Given the description of an element on the screen output the (x, y) to click on. 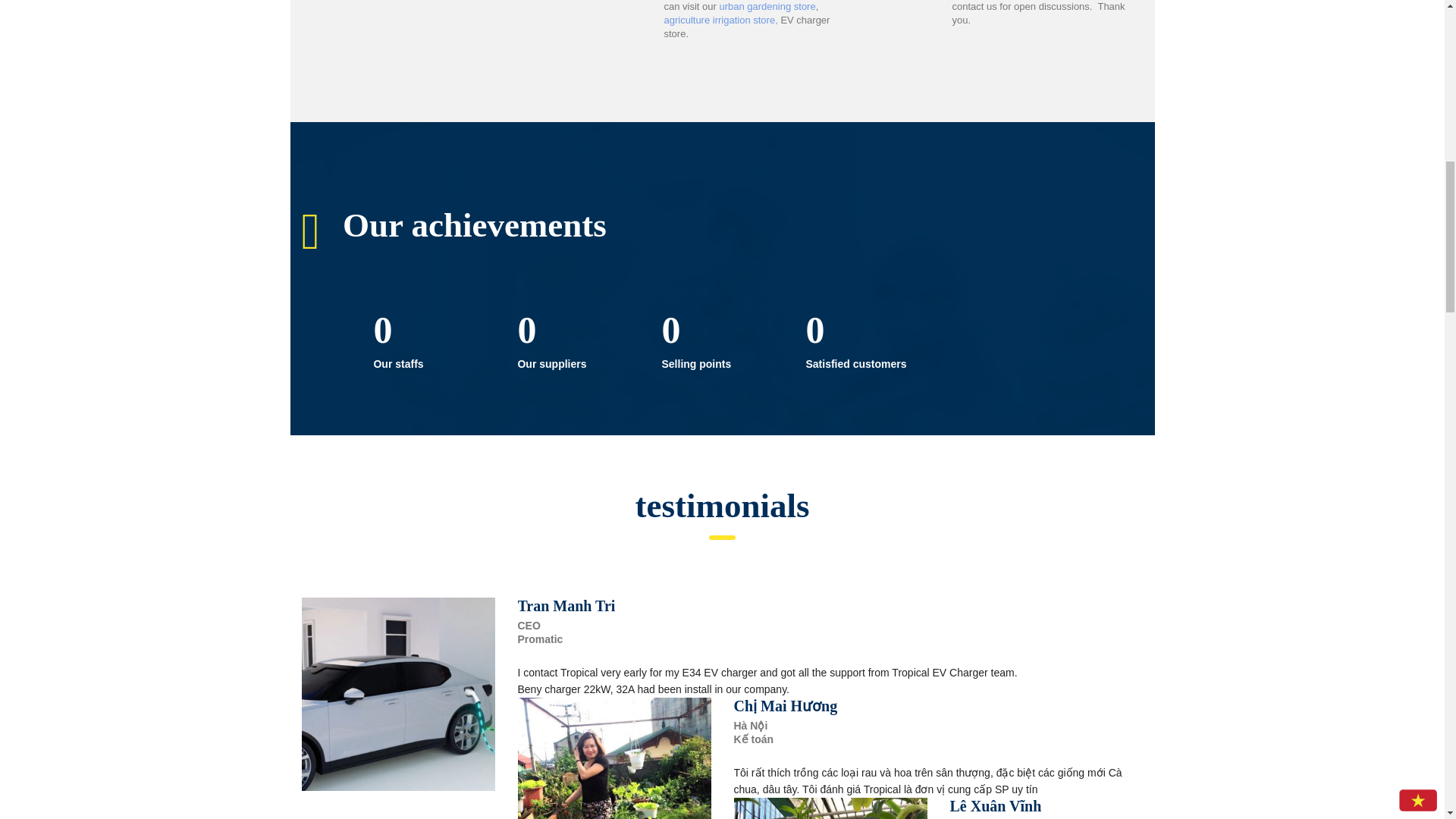
Sac-xe-dien-Beny (398, 694)
urban gardening store (767, 6)
agriculture irrigation store, (720, 19)
